Given the description of an element on the screen output the (x, y) to click on. 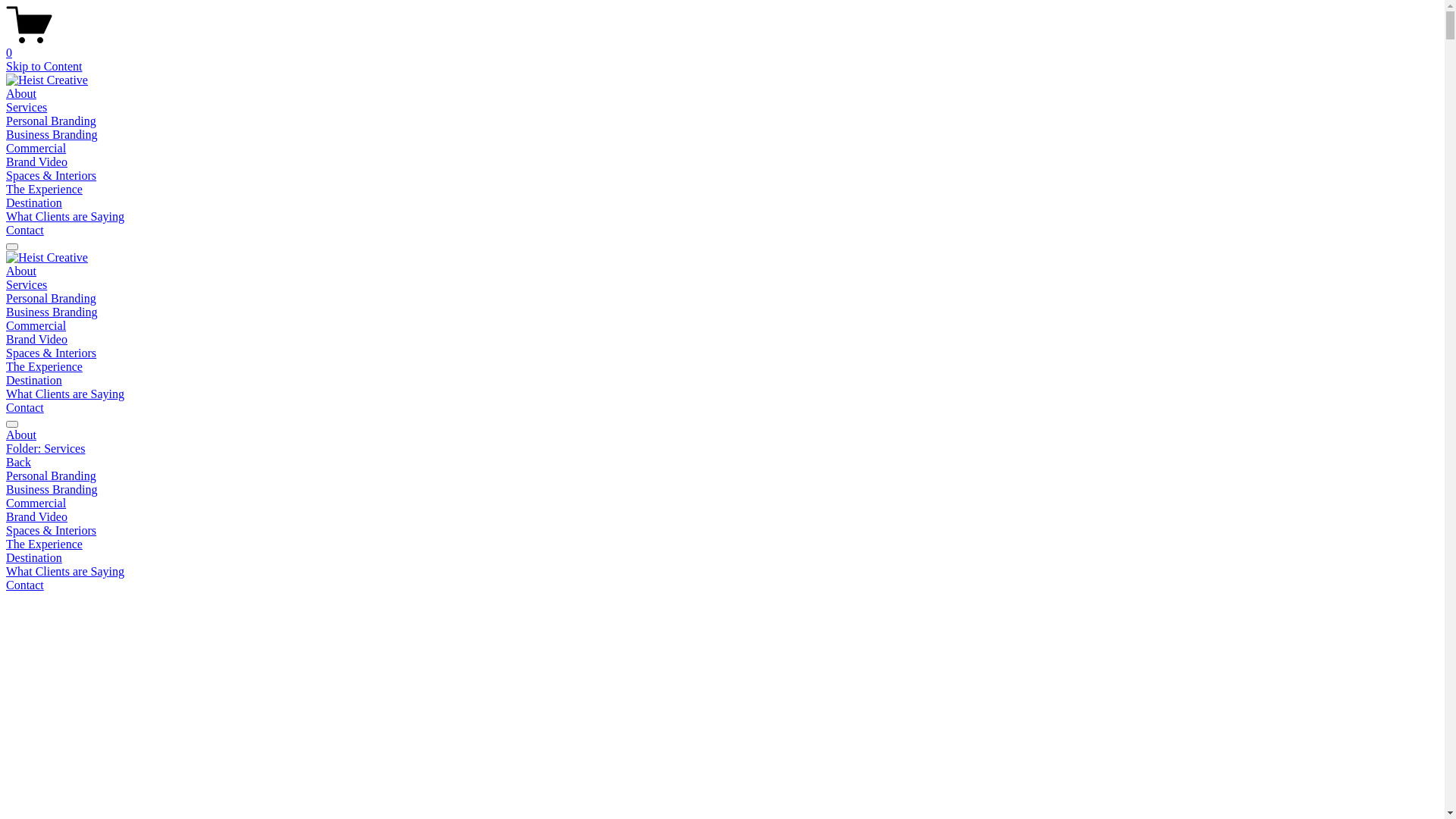
The Experience Element type: text (44, 188)
Brand Video Element type: text (36, 338)
Brand Video Element type: text (722, 517)
Brand Video Element type: text (36, 161)
Personal Branding Element type: text (51, 297)
About Element type: text (722, 435)
Back Element type: text (18, 461)
The Experience Element type: text (44, 366)
What Clients are Saying Element type: text (65, 393)
Business Branding Element type: text (51, 311)
Destination Element type: text (34, 202)
What Clients are Saying Element type: text (65, 216)
Services Element type: text (26, 284)
Business Branding Element type: text (722, 489)
About Element type: text (21, 270)
0 Element type: text (722, 45)
Skip to Content Element type: text (43, 65)
Personal Branding Element type: text (51, 120)
Services Element type: text (26, 106)
What Clients are Saying Element type: text (722, 571)
Contact Element type: text (24, 229)
Commercial Element type: text (35, 325)
Commercial Element type: text (35, 147)
Contact Element type: text (24, 407)
Destination Element type: text (722, 557)
Commercial Element type: text (722, 503)
Spaces & Interiors Element type: text (51, 175)
Spaces & Interiors Element type: text (722, 530)
Spaces & Interiors Element type: text (51, 352)
Business Branding Element type: text (51, 134)
Contact Element type: text (24, 584)
About Element type: text (21, 93)
The Experience Element type: text (722, 544)
Personal Branding Element type: text (722, 476)
Destination Element type: text (34, 379)
Folder: Services Element type: text (722, 448)
